Given the description of an element on the screen output the (x, y) to click on. 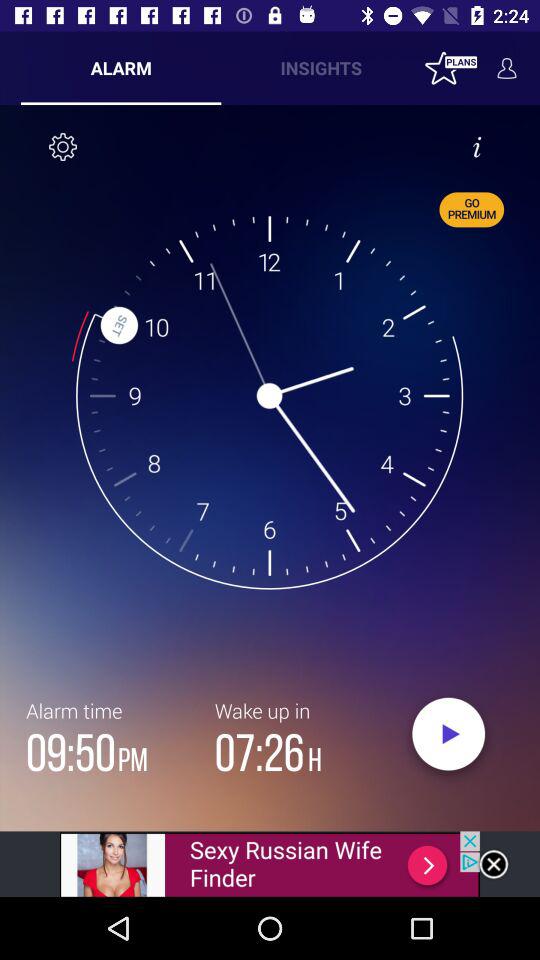
information menu (477, 147)
